Given the description of an element on the screen output the (x, y) to click on. 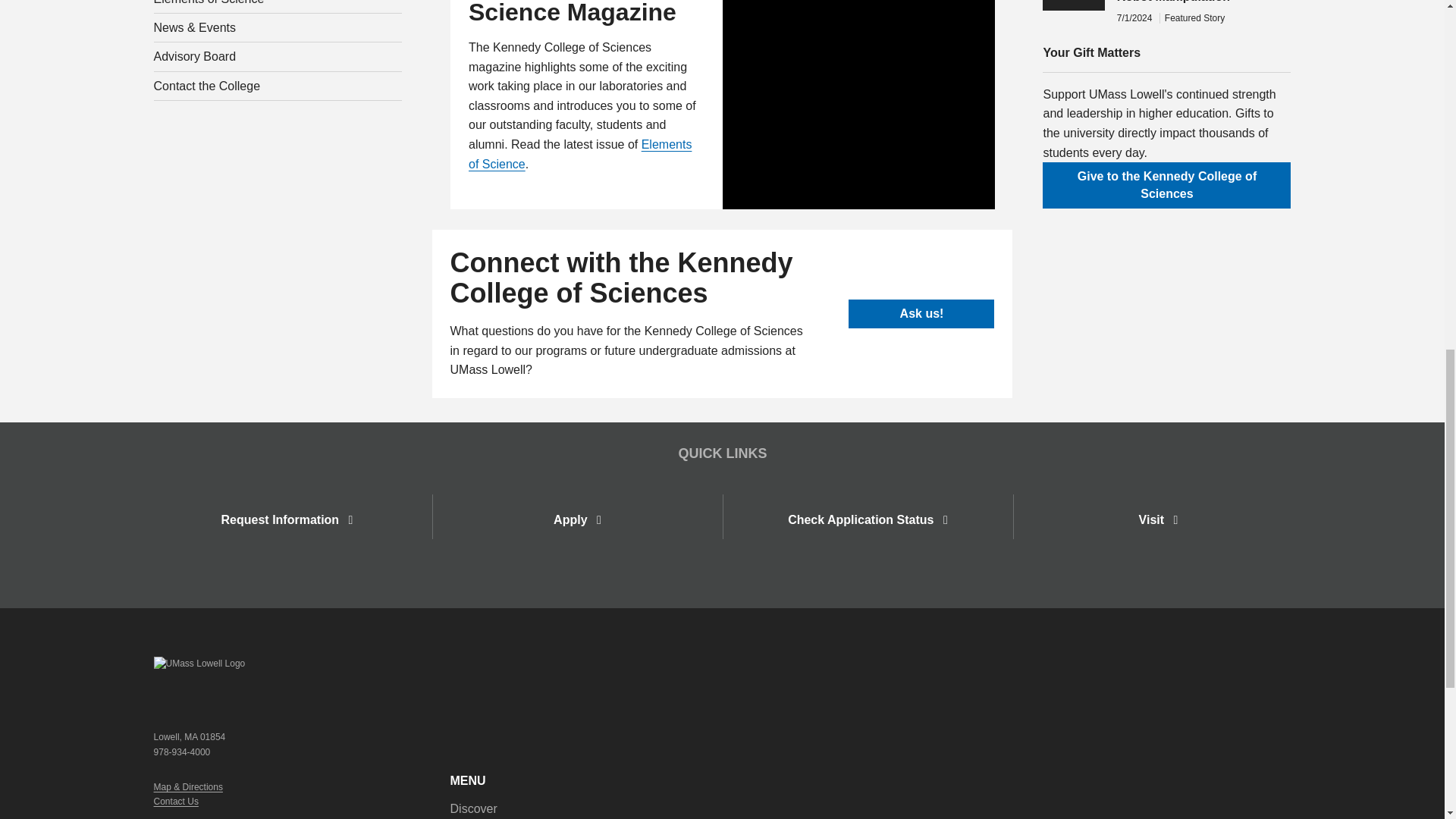
Ask us! (921, 313)
Elements of Science (277, 6)
Advisory Board (277, 56)
Elements of Science (579, 154)
Contact the College (277, 86)
